Given the description of an element on the screen output the (x, y) to click on. 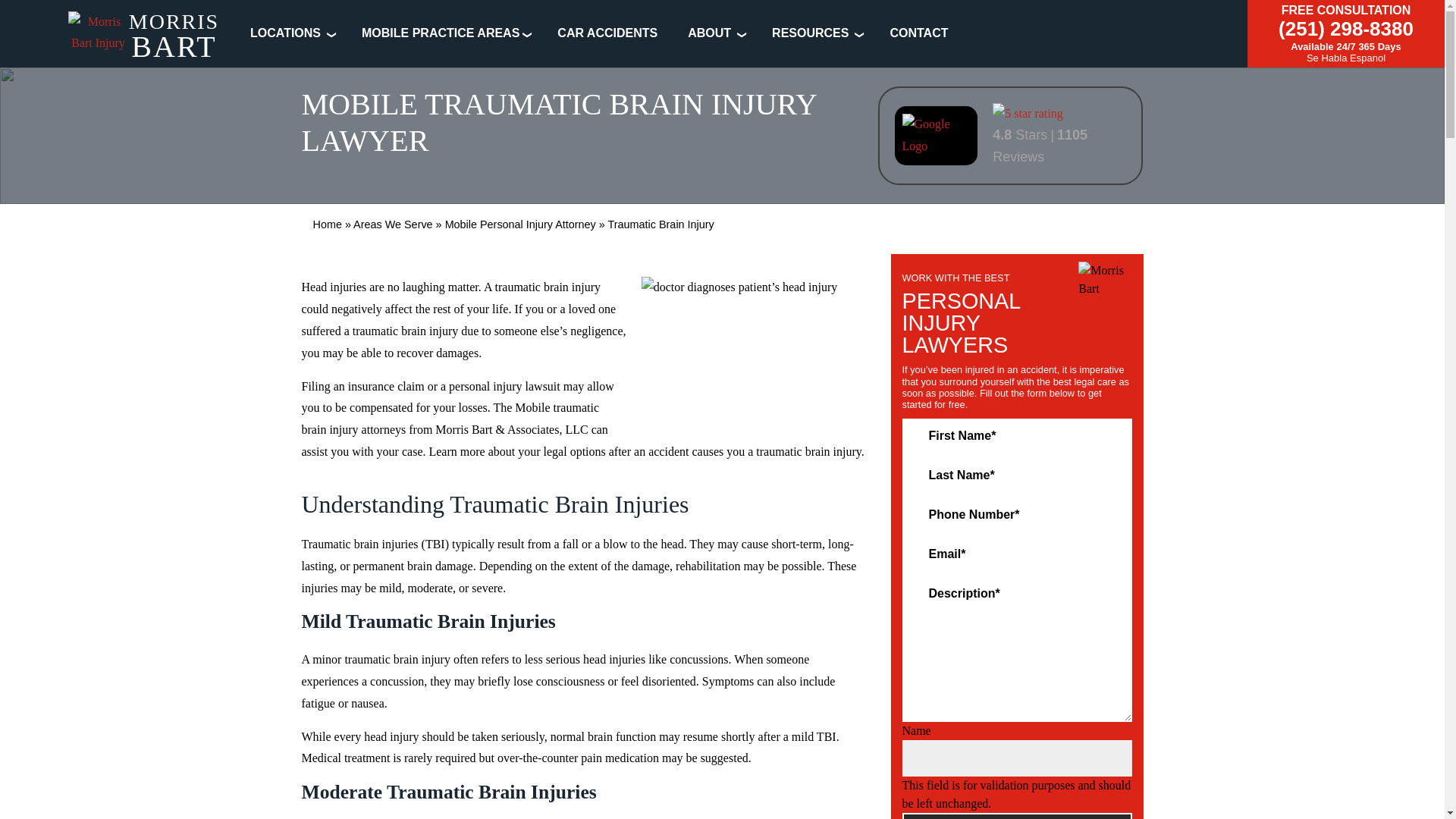
MOBILE PRACTICE AREAS (440, 32)
Submit Free Case Review (1017, 816)
MORRISBART (143, 37)
LOCATIONS (285, 32)
